Given the description of an element on the screen output the (x, y) to click on. 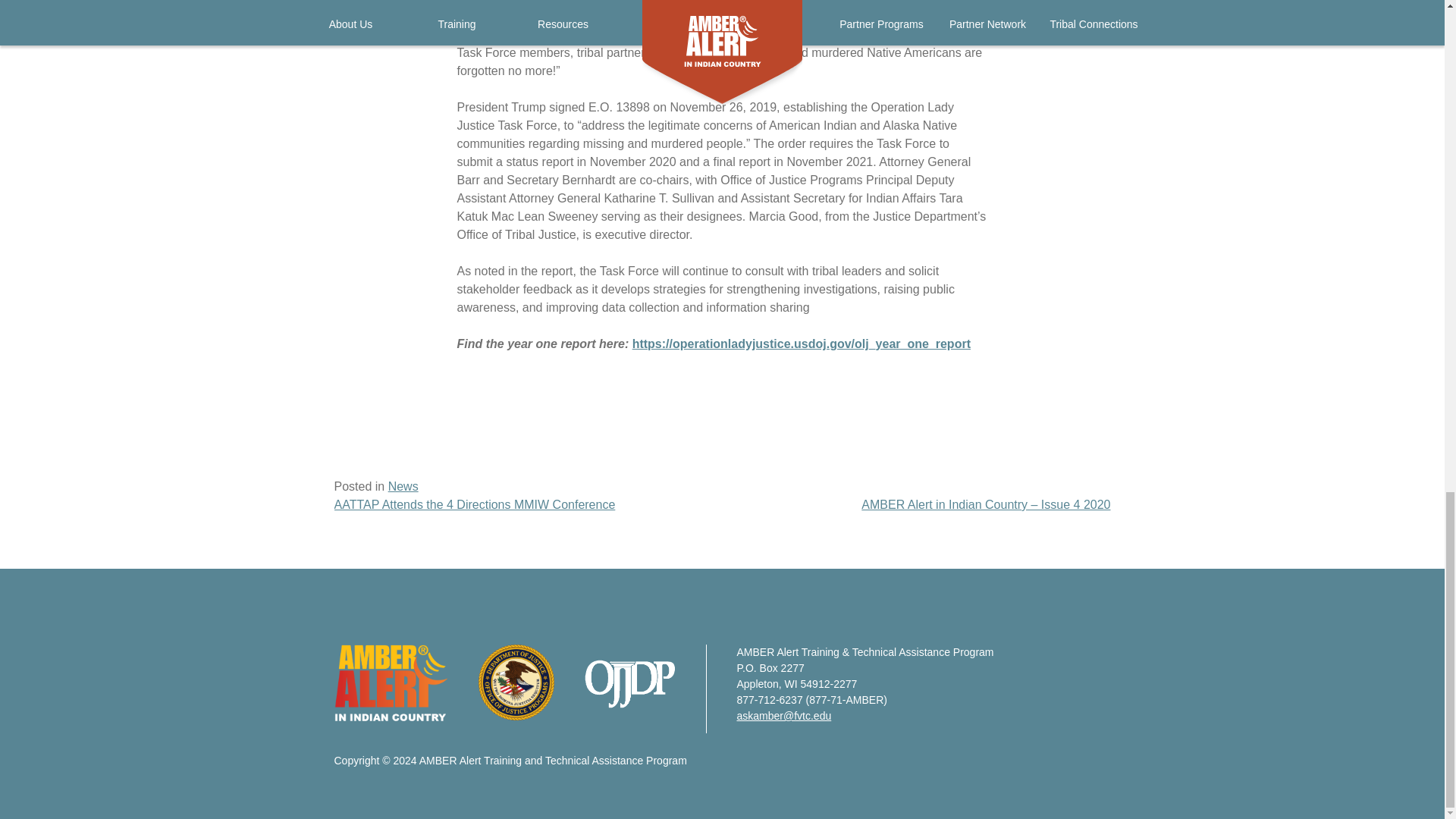
AATTAP Attends the 4 Directions MMIW Conference (473, 504)
News (403, 486)
